Given the description of an element on the screen output the (x, y) to click on. 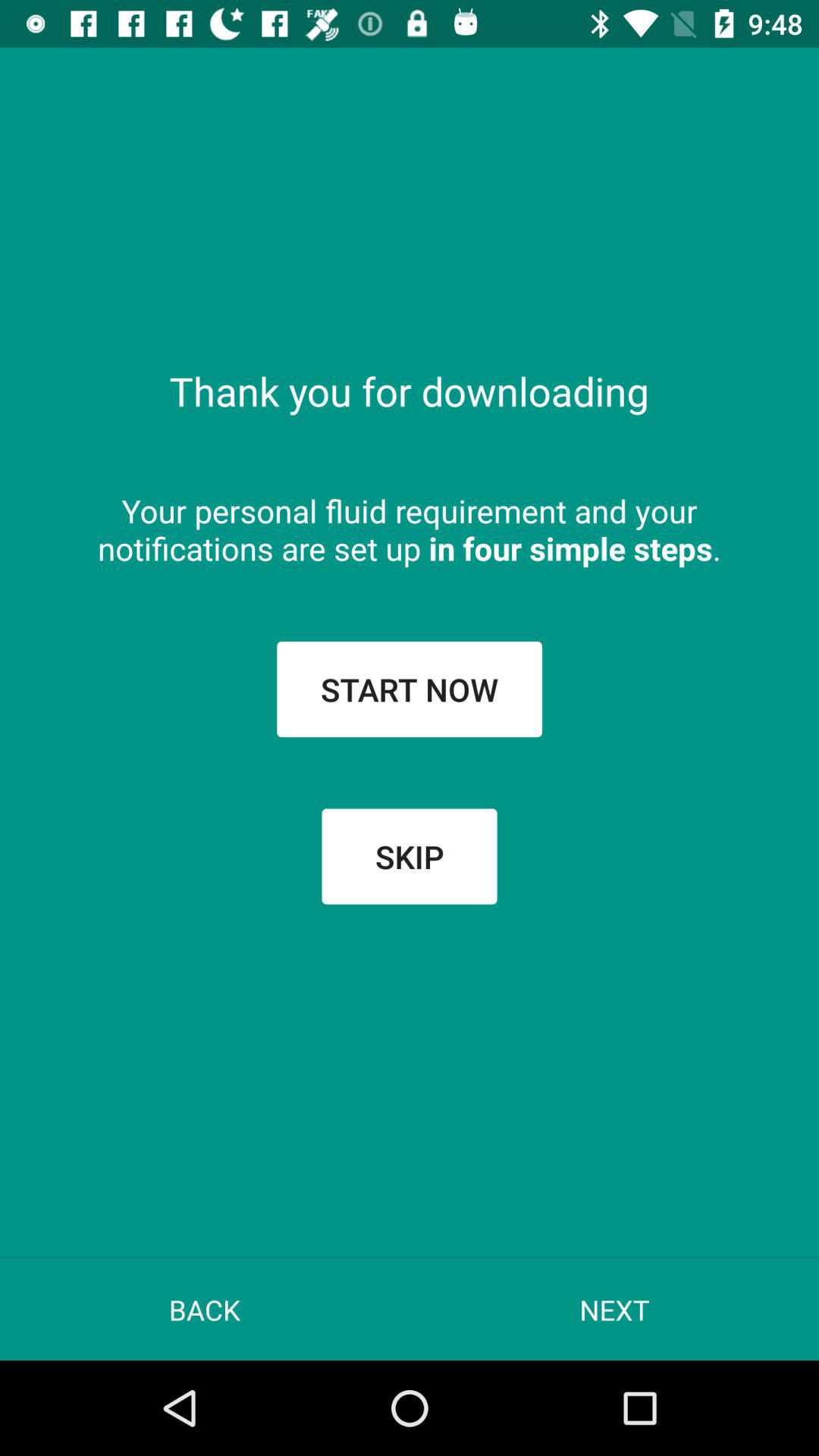
open skip icon (409, 856)
